Given the description of an element on the screen output the (x, y) to click on. 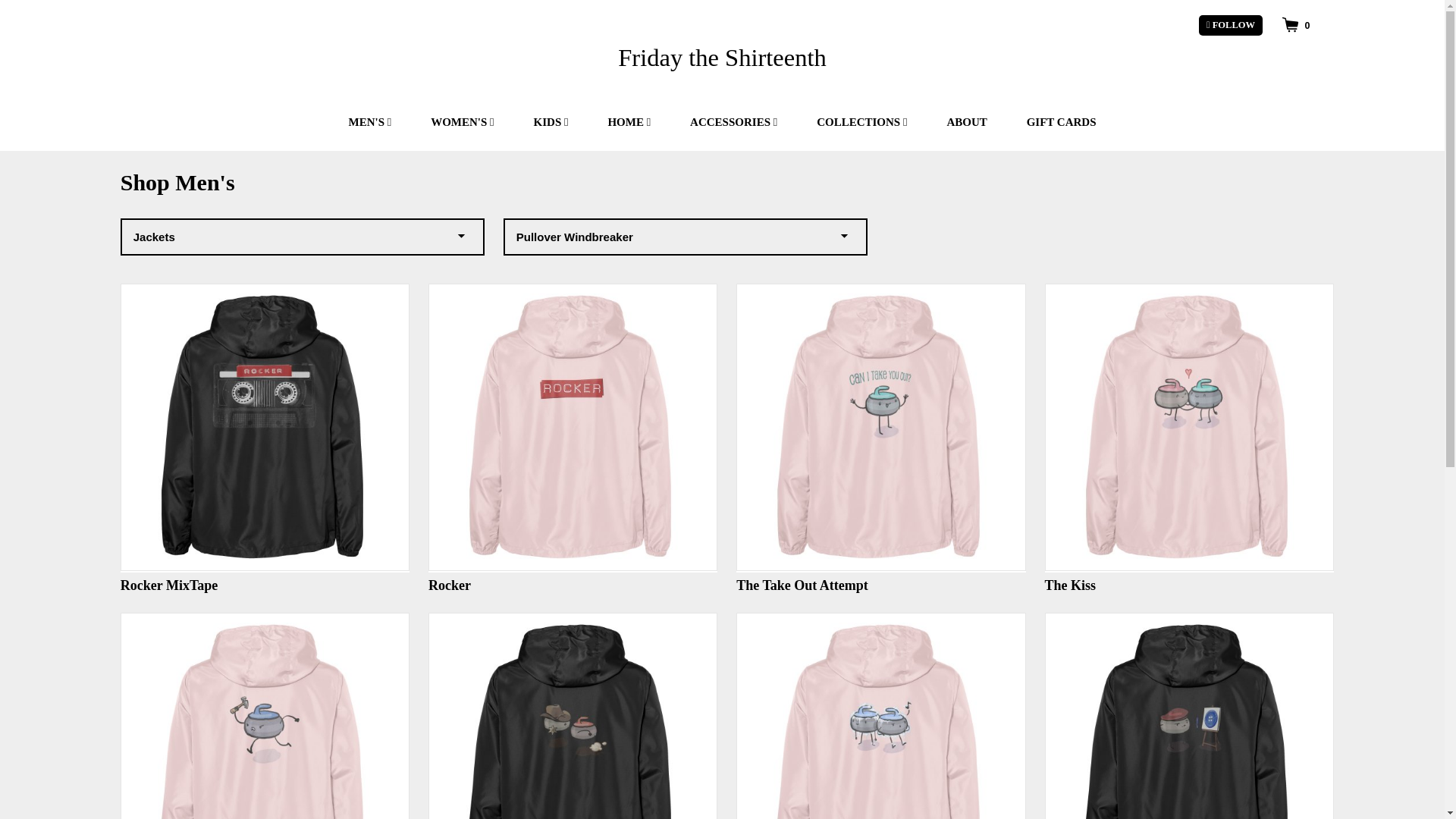
The Guard (572, 715)
ABOUT (965, 121)
The Take Out Attempt (880, 438)
Buy Rocker MixTape (264, 438)
FOLLOW (1230, 25)
KIDS (550, 121)
Shop Collections (861, 121)
MEN'S (369, 121)
Shop Men's (369, 121)
Give the gift of unlimited choice (1061, 121)
About Friday the Shirteenth (965, 121)
The Kiss (1189, 438)
HOME (628, 121)
COLLECTIONS (861, 121)
Shop Kids (550, 121)
